Given the description of an element on the screen output the (x, y) to click on. 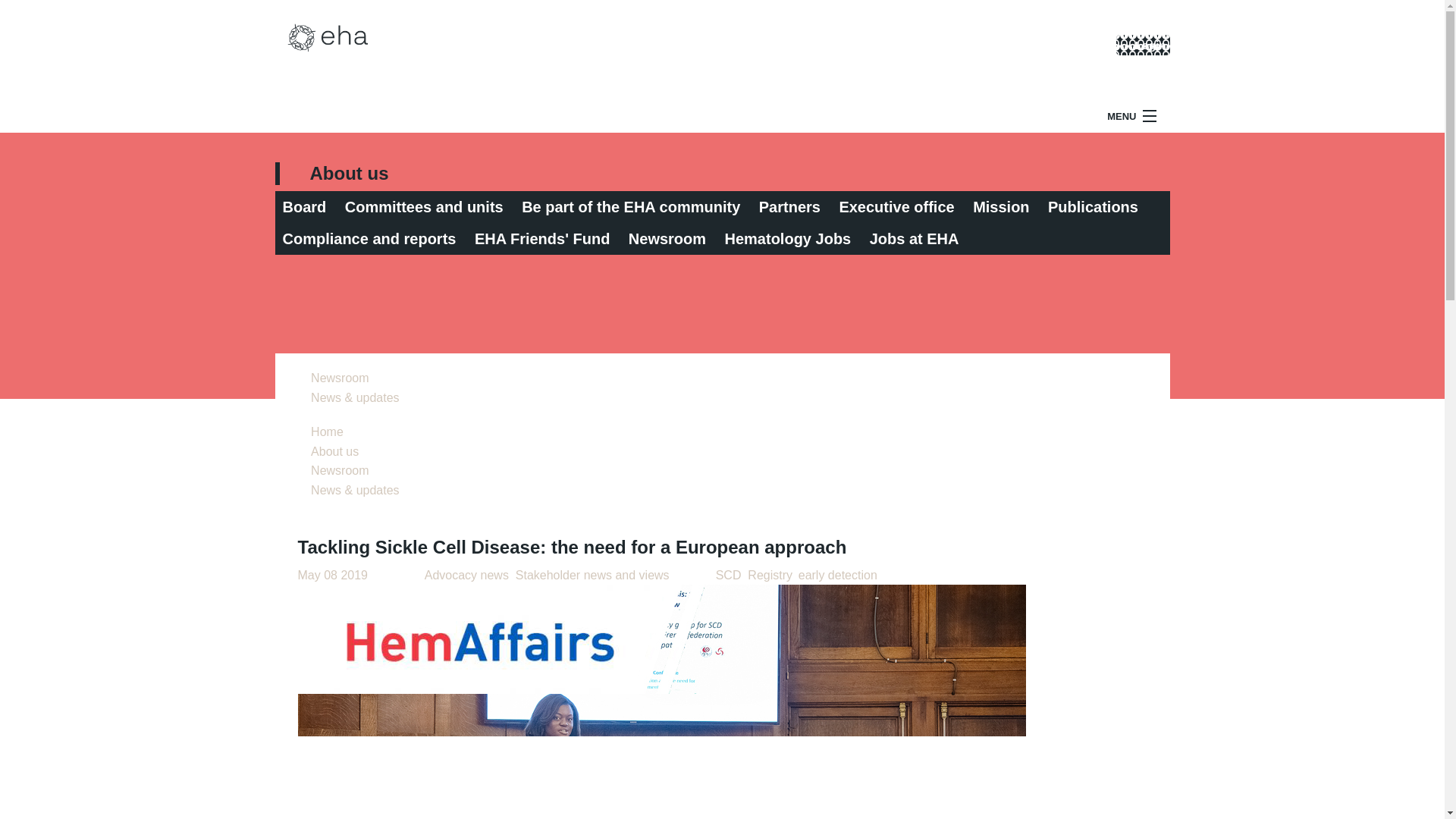
Stakeholder news and views (592, 574)
Registry (770, 574)
SCD (728, 574)
early detection (837, 574)
Advocacy news (466, 574)
